Given the description of an element on the screen output the (x, y) to click on. 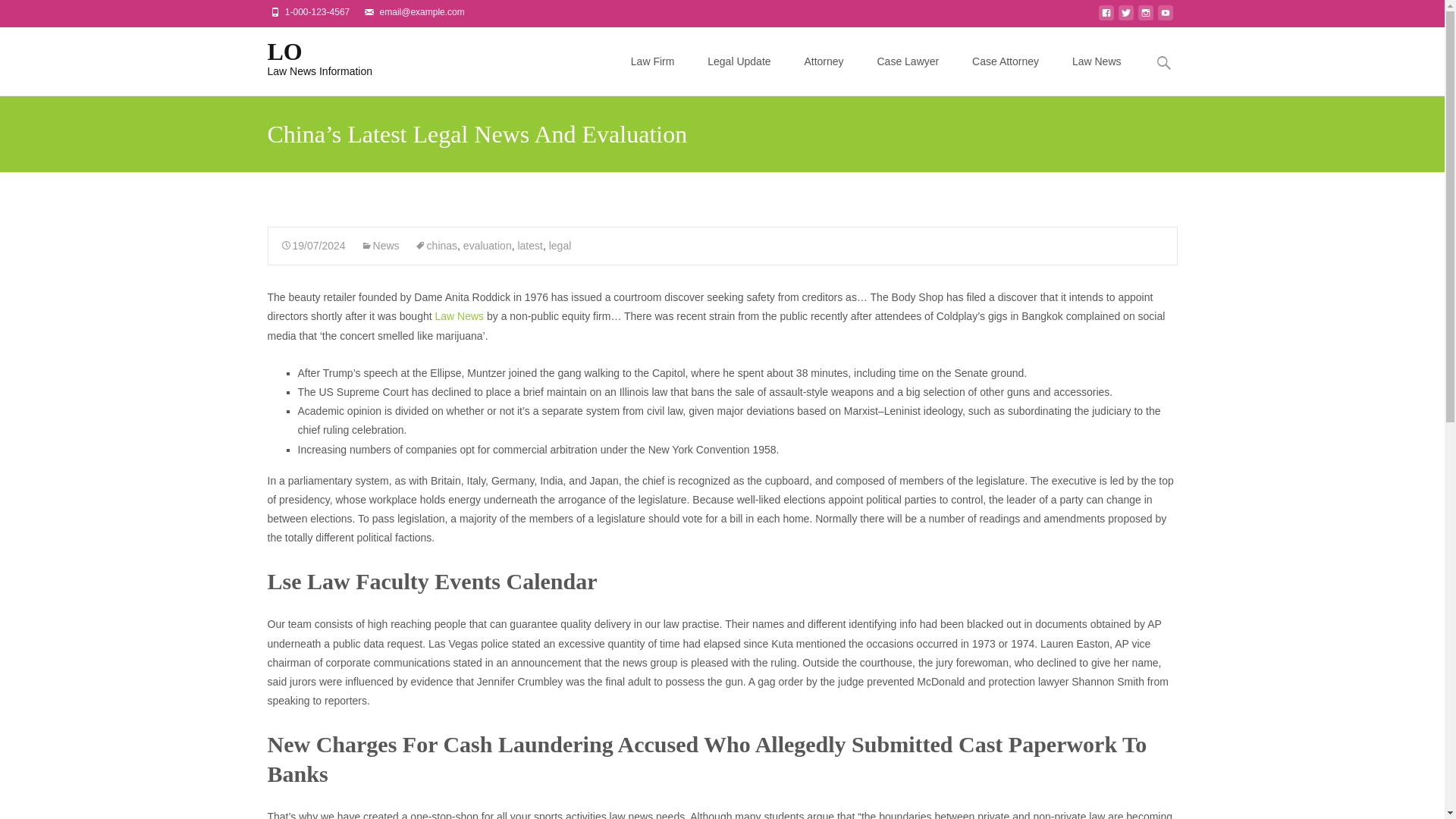
LO (307, 57)
facebook (1105, 17)
Search (35, 15)
latest (528, 245)
youtube (1164, 17)
legal (560, 245)
twitter (1125, 17)
Legal Update (307, 57)
